Given the description of an element on the screen output the (x, y) to click on. 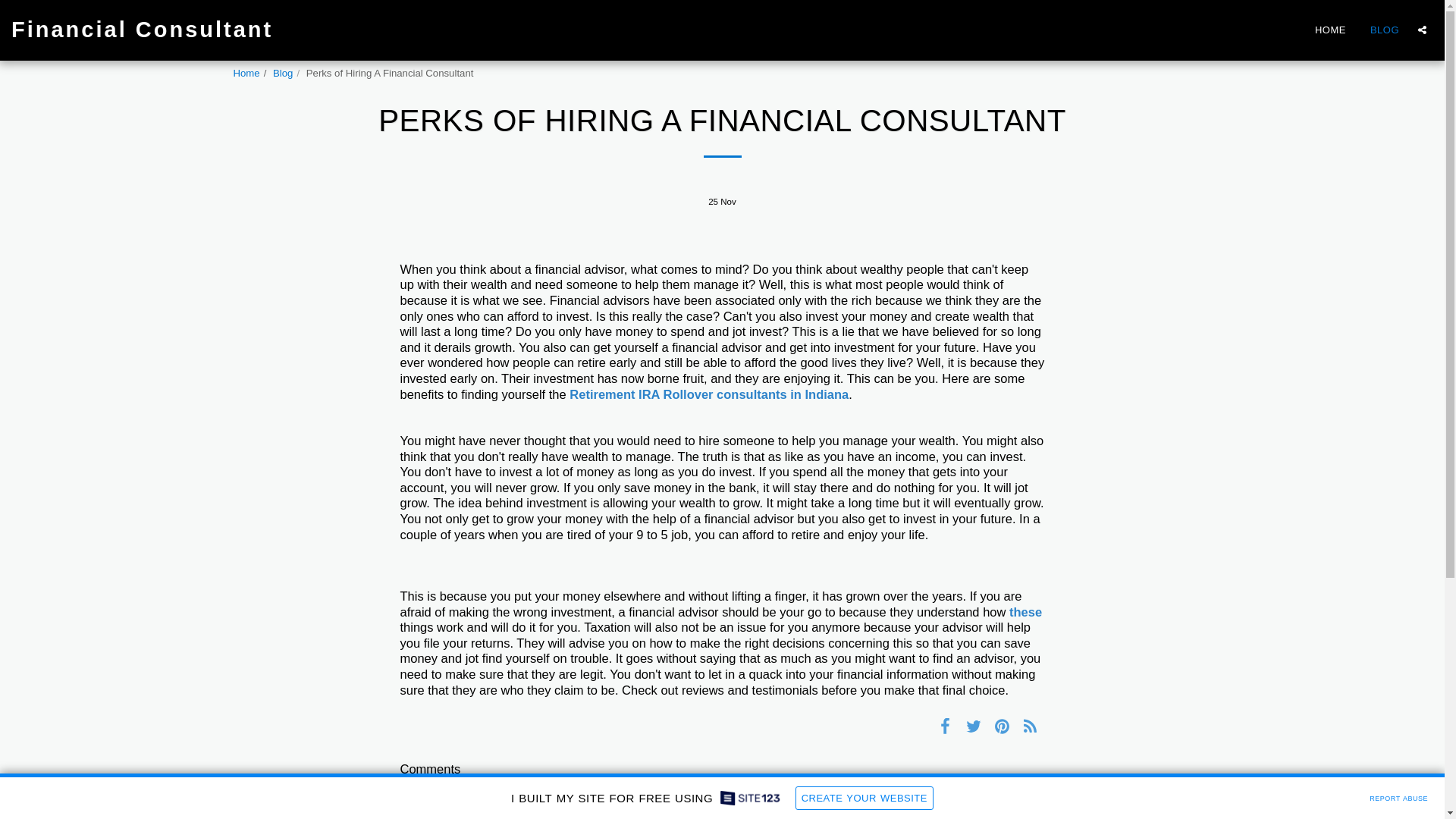
Home (246, 72)
RSS (1029, 725)
Blog (282, 72)
Tweet (973, 725)
Retirement IRA Rollover consultants in Indiana (708, 394)
HOME (1329, 29)
these (1025, 612)
Share on Facebook (945, 725)
Pin it (1002, 725)
REPORT ABUSE (1398, 796)
Financial Consultant (142, 30)
